Given the description of an element on the screen output the (x, y) to click on. 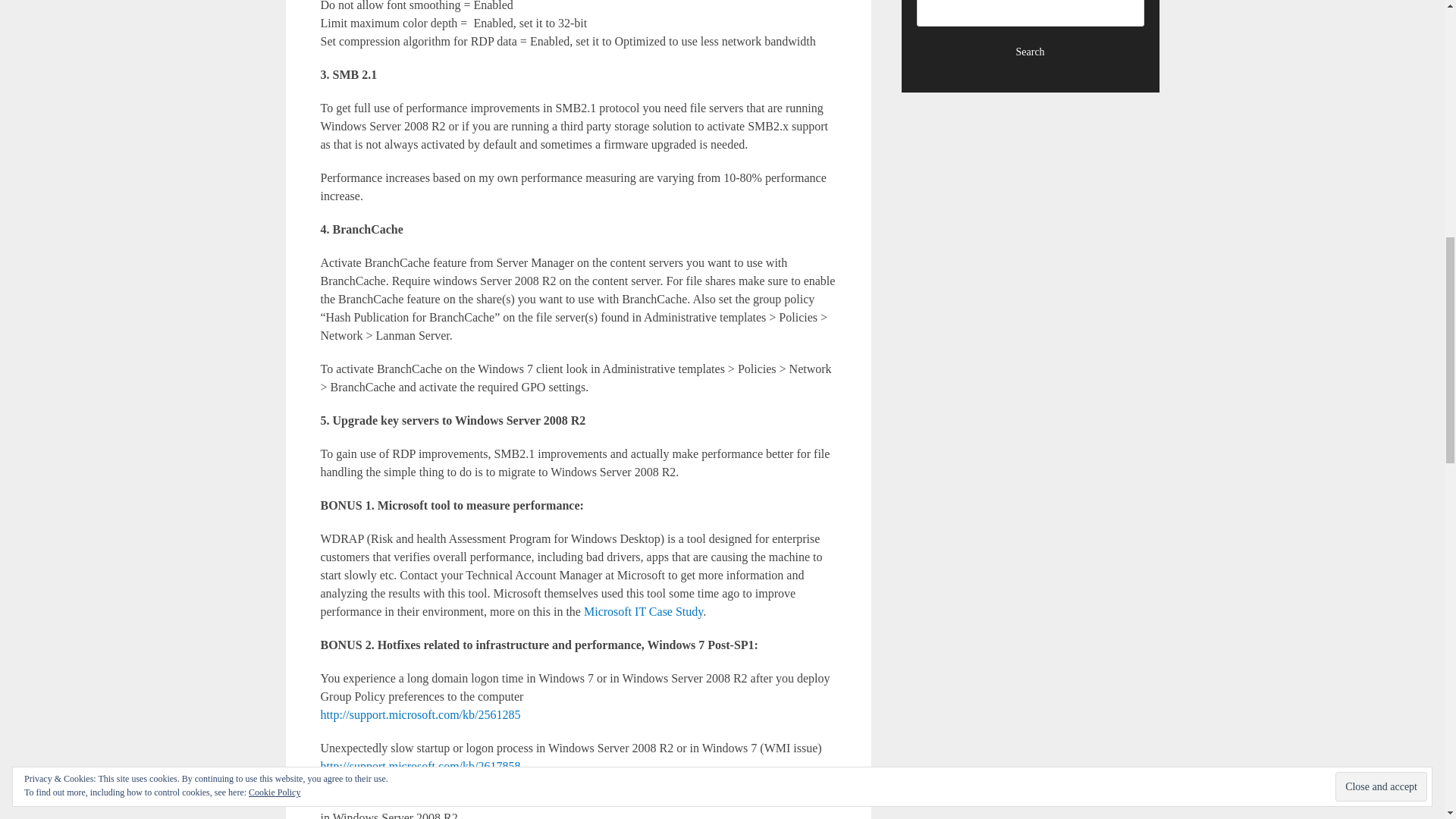
Search (1030, 52)
Microsoft IT Case Study (643, 611)
